Given the description of an element on the screen output the (x, y) to click on. 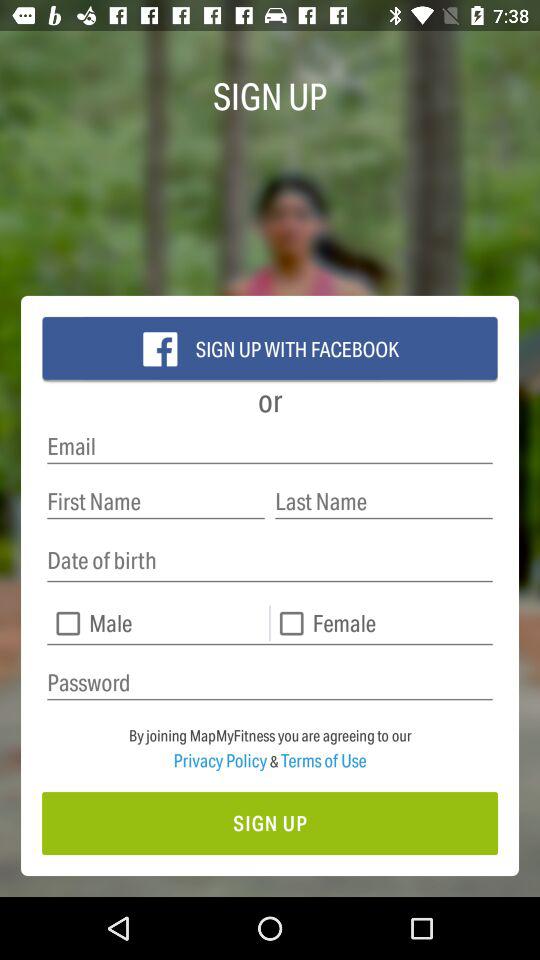
enter date of birth (270, 560)
